Given the description of an element on the screen output the (x, y) to click on. 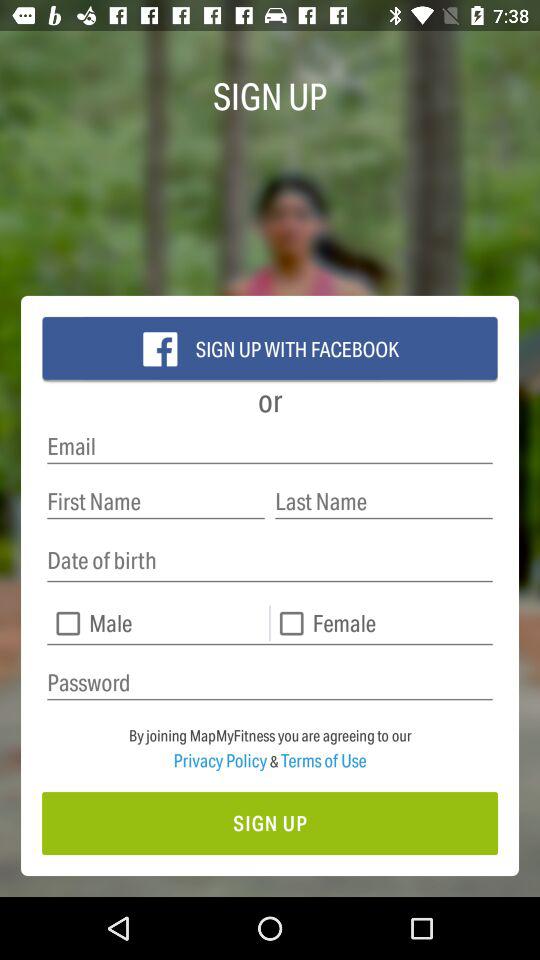
enter date of birth (270, 560)
